Given the description of an element on the screen output the (x, y) to click on. 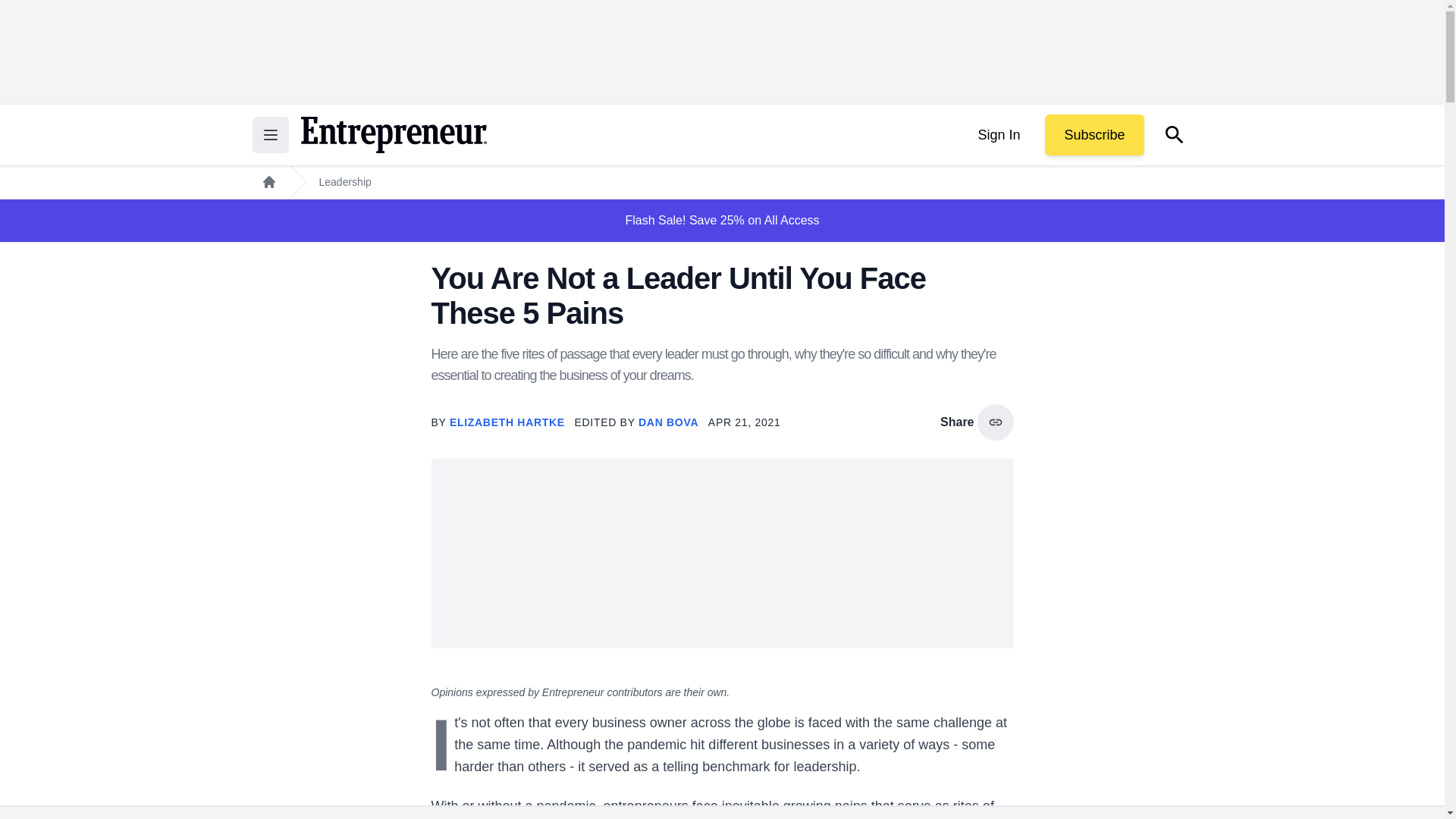
Subscribe (1093, 134)
Return to the home page (392, 135)
Sign In (998, 134)
copy (994, 422)
